Given the description of an element on the screen output the (x, y) to click on. 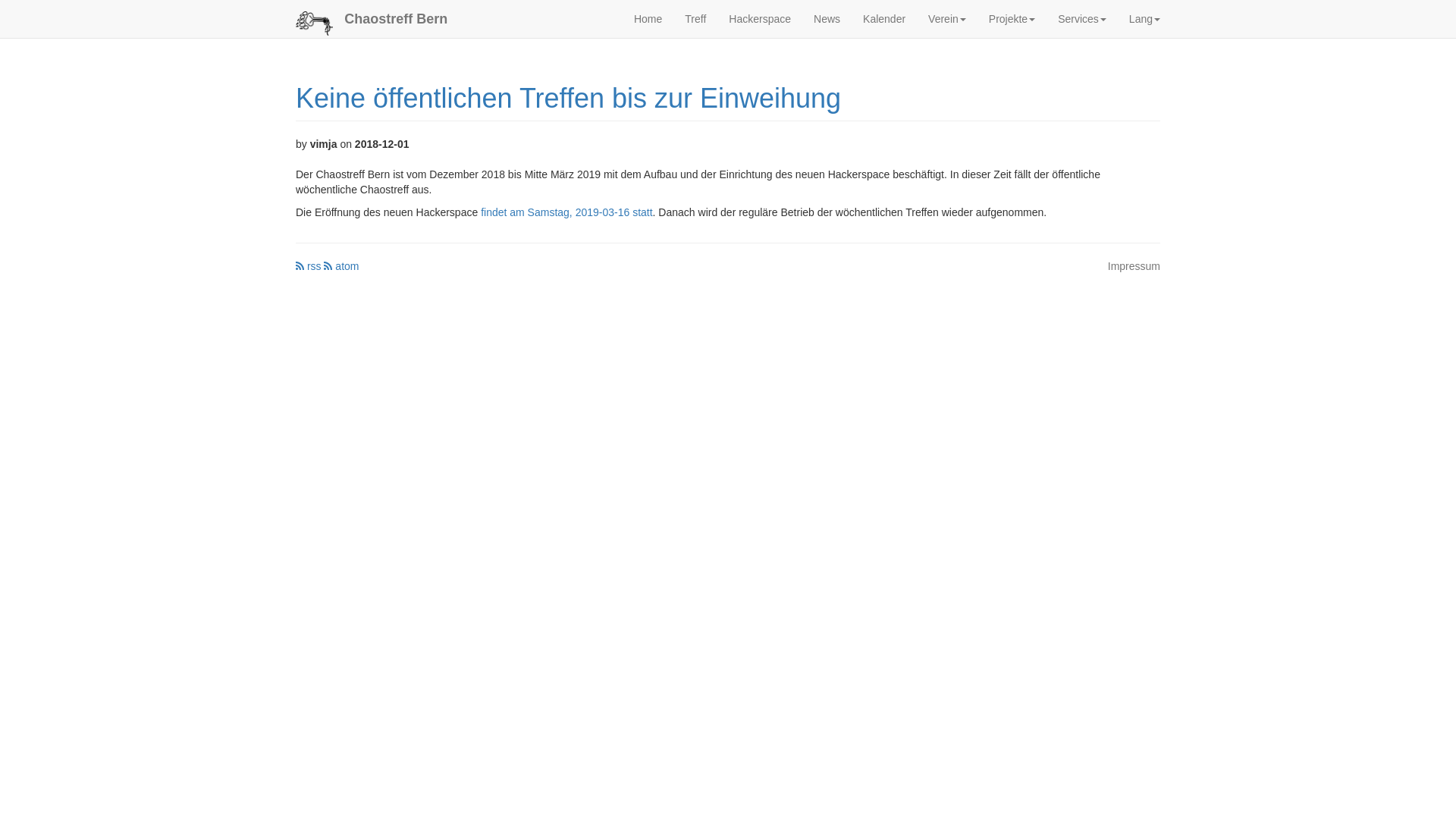
rss Element type: text (309, 266)
Services Element type: text (1081, 18)
Home Element type: text (647, 18)
News Element type: text (826, 18)
Hackerspace Element type: text (759, 18)
Chaostreff Bern Element type: text (395, 18)
Impressum Element type: text (1133, 266)
atom Element type: text (340, 266)
Kalender Element type: text (883, 18)
Projekte Element type: text (1011, 18)
Treff Element type: text (695, 18)
Lang Element type: text (1144, 18)
Verein Element type: text (946, 18)
findet am Samstag, 2019-03-16 statt Element type: text (566, 212)
